Given the description of an element on the screen output the (x, y) to click on. 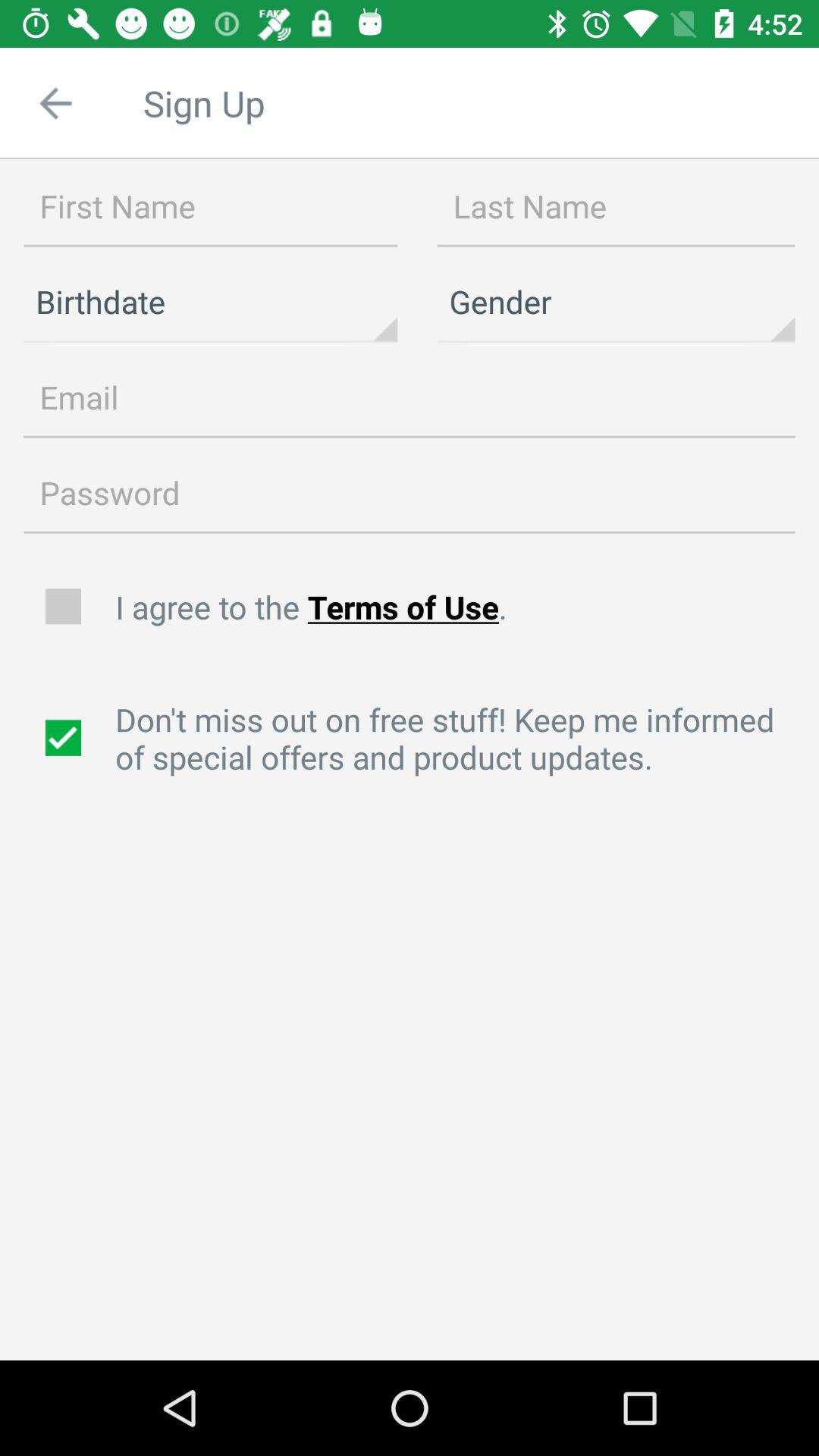
open the birthdate (210, 302)
